Given the description of an element on the screen output the (x, y) to click on. 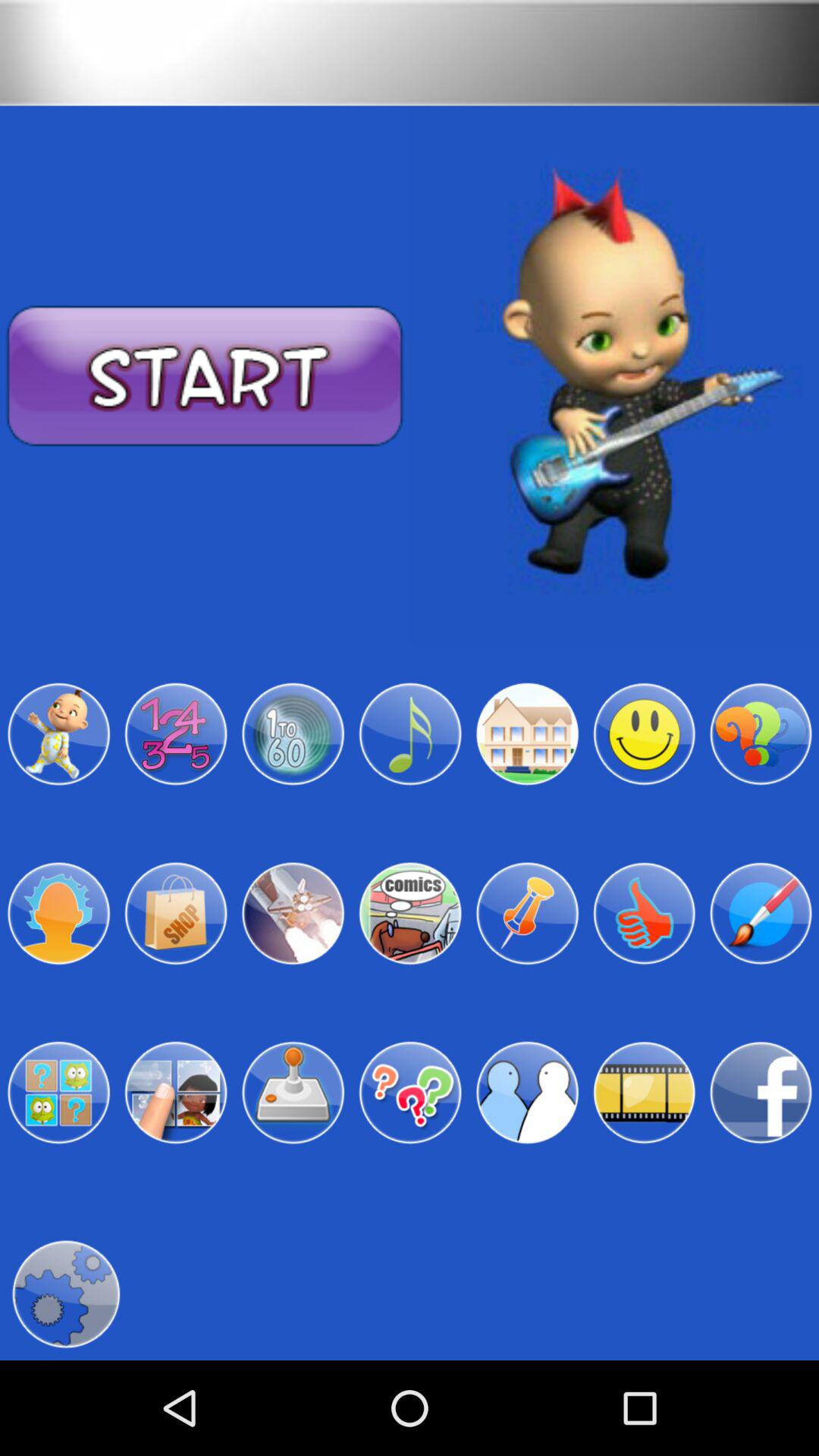
open app (292, 913)
